Given the description of an element on the screen output the (x, y) to click on. 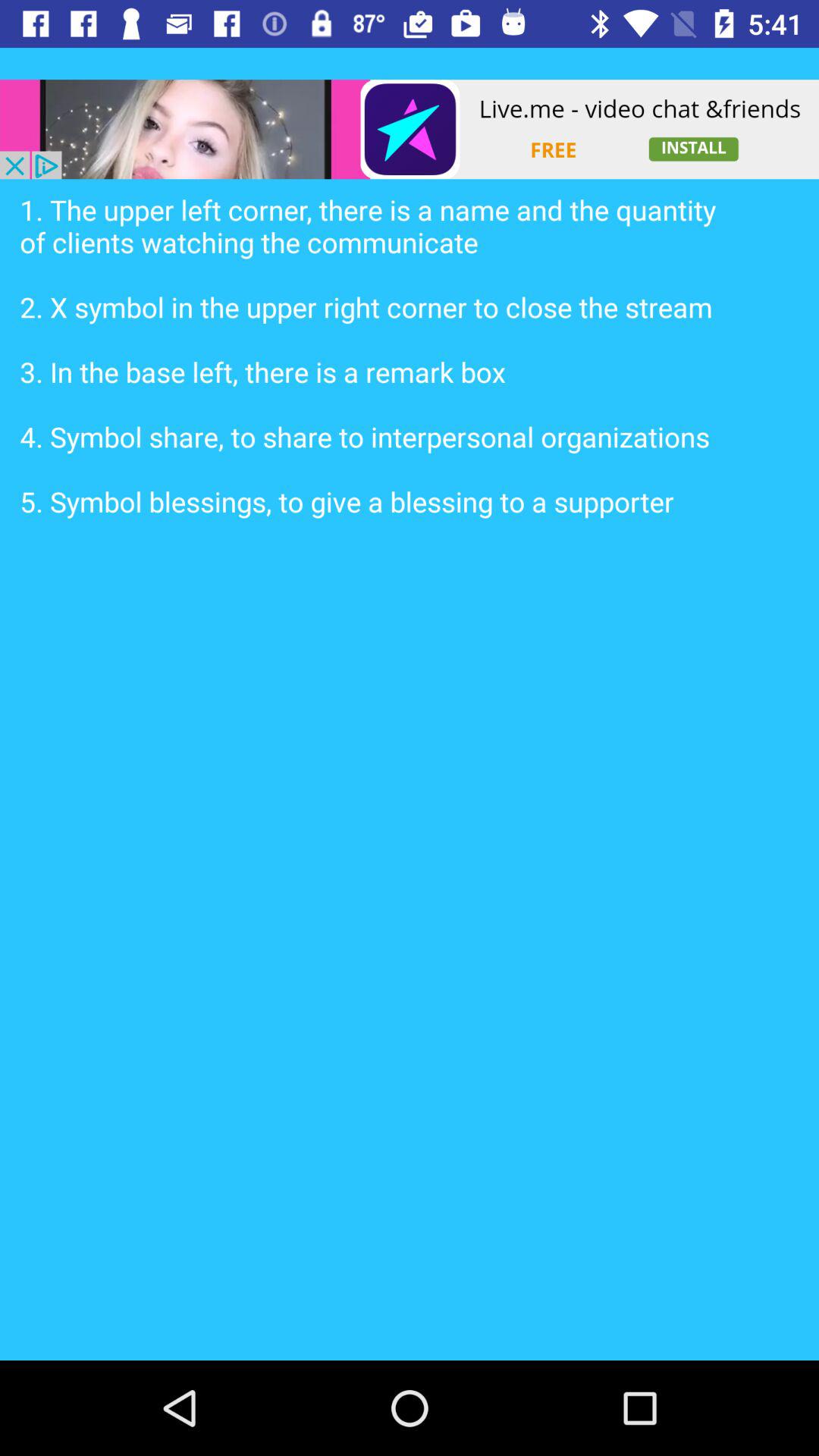
advertisement (409, 129)
